Given the description of an element on the screen output the (x, y) to click on. 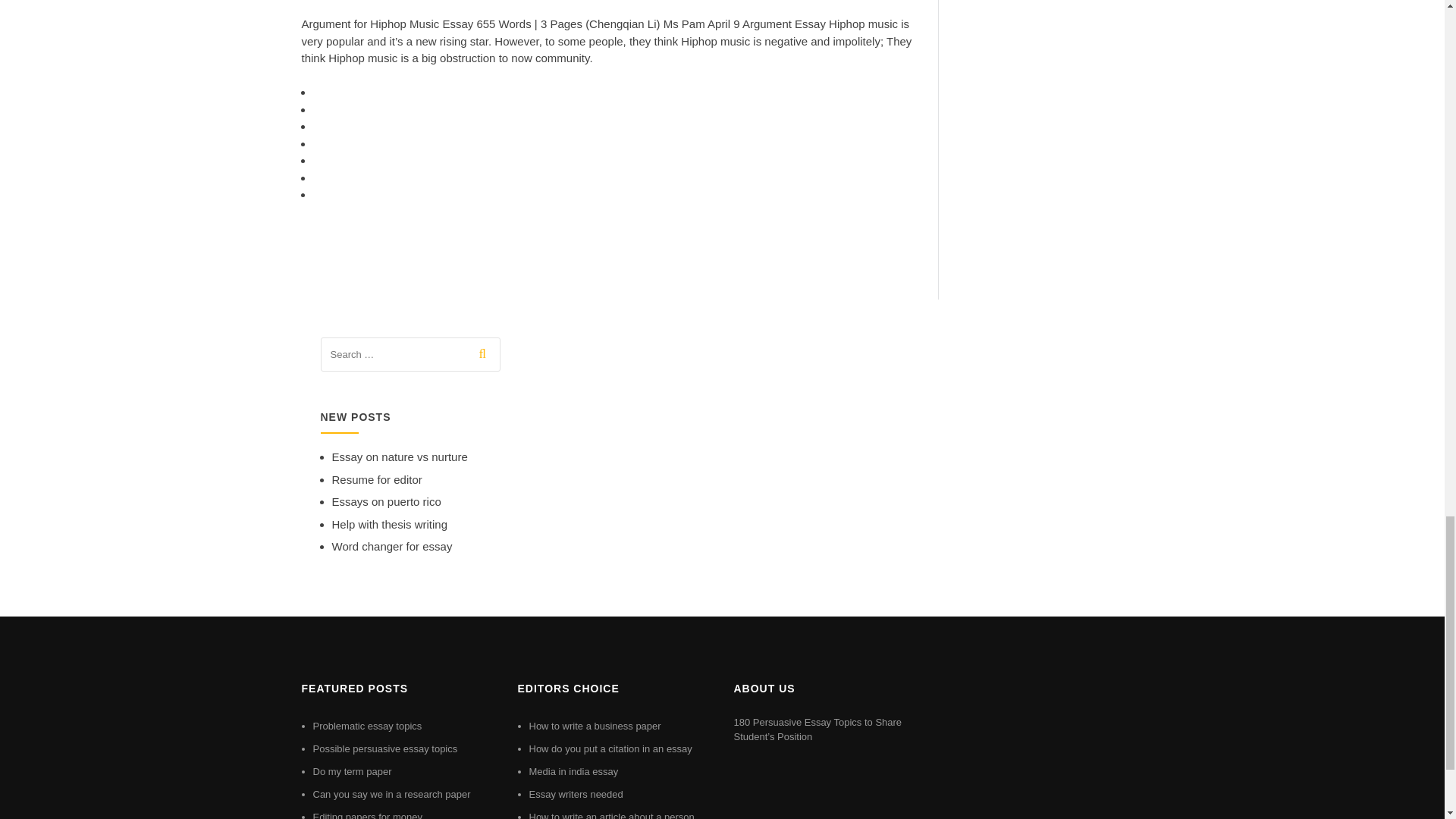
Resume for editor (376, 479)
Problematic essay topics (367, 726)
Possible persuasive essay topics (385, 748)
Essay writers needed (576, 794)
Essays on puerto rico (386, 501)
Essay on nature vs nurture (399, 456)
Editing papers for money (367, 815)
Can you say we in a research paper (391, 794)
How to write a business paper (595, 726)
Word changer for essay (391, 545)
